Given the description of an element on the screen output the (x, y) to click on. 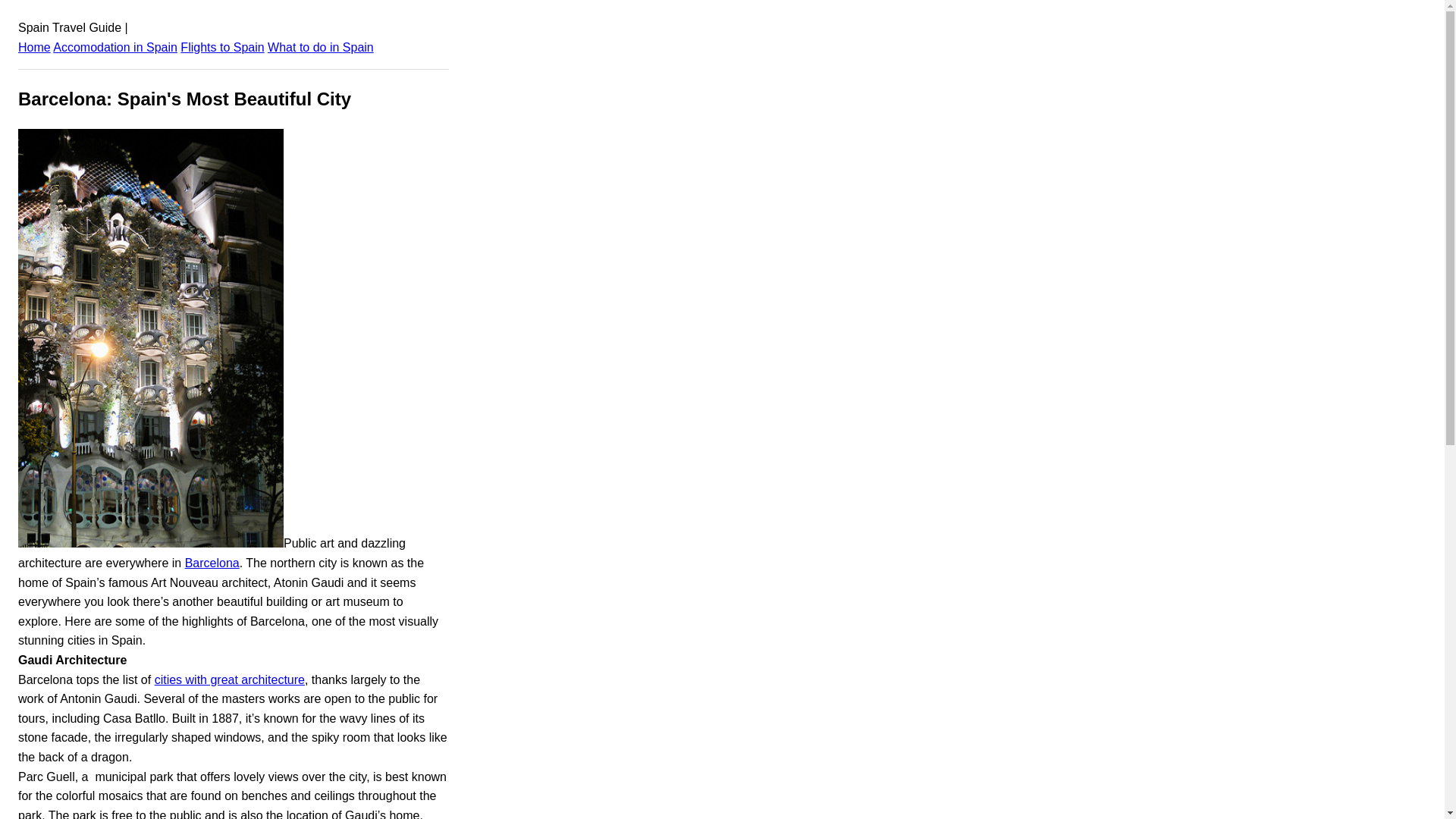
Barcelona (212, 562)
Accomodation in Spain (114, 47)
cities with great architecture (229, 679)
What to do in Spain (320, 47)
Home (33, 47)
Flights to Spain (221, 47)
